Given the description of an element on the screen output the (x, y) to click on. 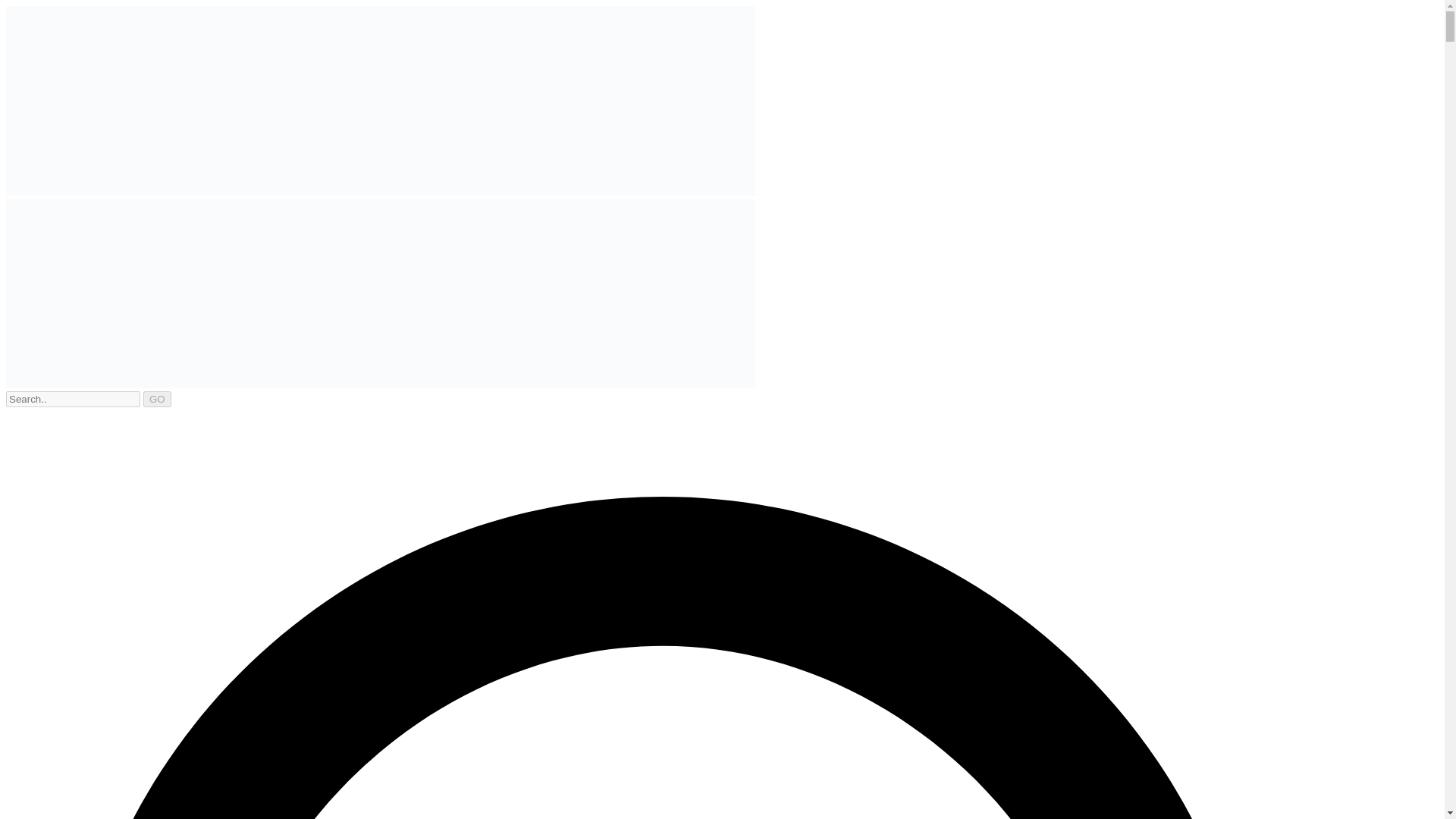
GO (156, 399)
GO (156, 399)
GO (156, 399)
